Given the description of an element on the screen output the (x, y) to click on. 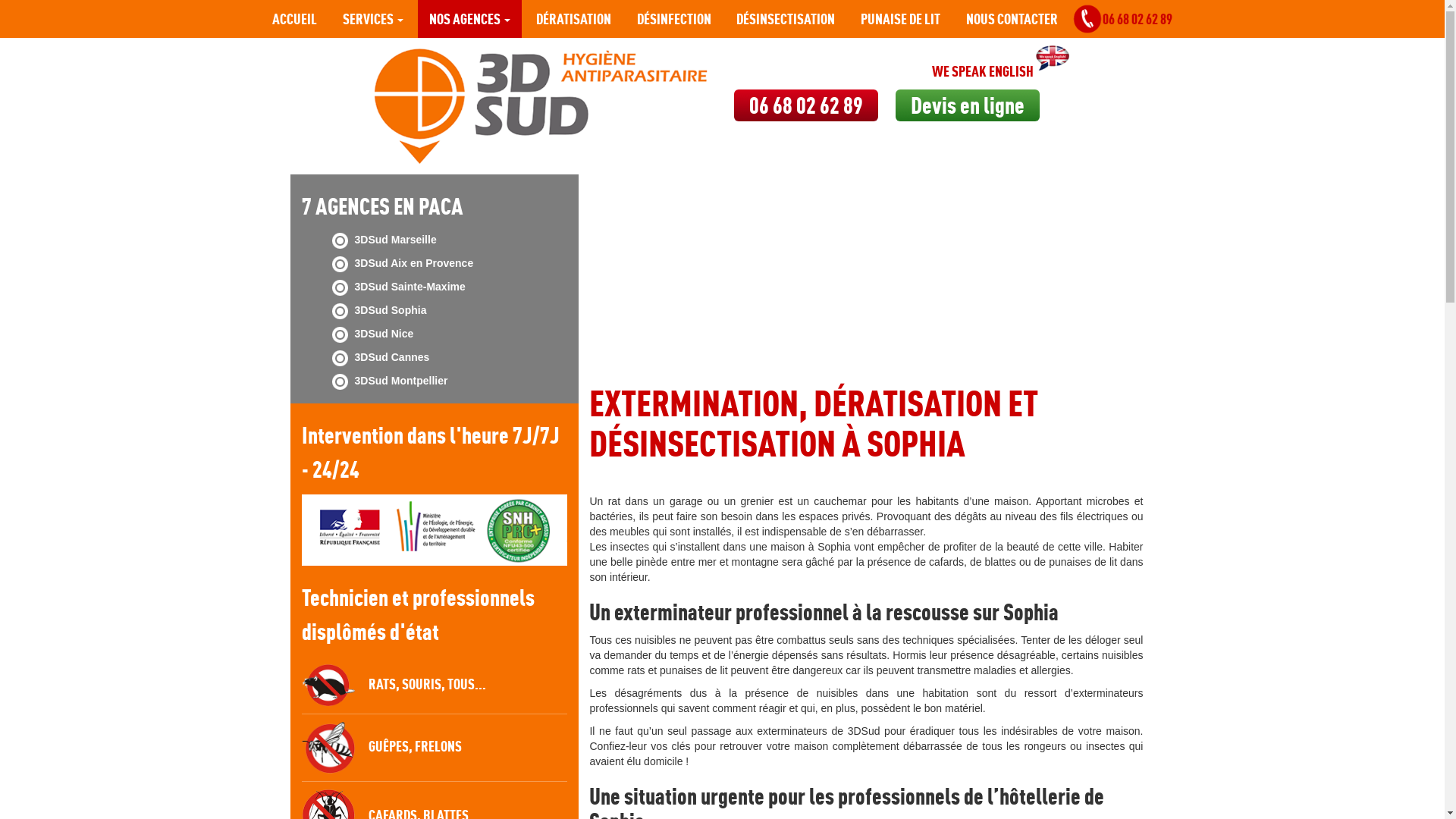
3DSud Montpellier Element type: text (401, 380)
06 68 02 62 89 Element type: text (1127, 18)
06 68 02 62 89 Element type: text (805, 105)
NOS AGENCES Element type: text (469, 18)
3DSud Marseille Element type: text (395, 239)
3DSud Aix en Provence Element type: text (413, 263)
NOUS CONTACTER Element type: text (1011, 18)
RATS, SOURIS, TOUS... Element type: text (393, 683)
SERVICES Element type: text (372, 18)
PUNAISE DE LIT Element type: text (900, 18)
3DSud Nice Element type: text (384, 333)
3DSud Sophia Element type: text (390, 310)
ACCUEIL Element type: text (294, 18)
3DSud Sainte-Maxime Element type: text (409, 286)
Devis en ligne Element type: text (967, 104)
3DSud Cannes Element type: text (391, 357)
